Given the description of an element on the screen output the (x, y) to click on. 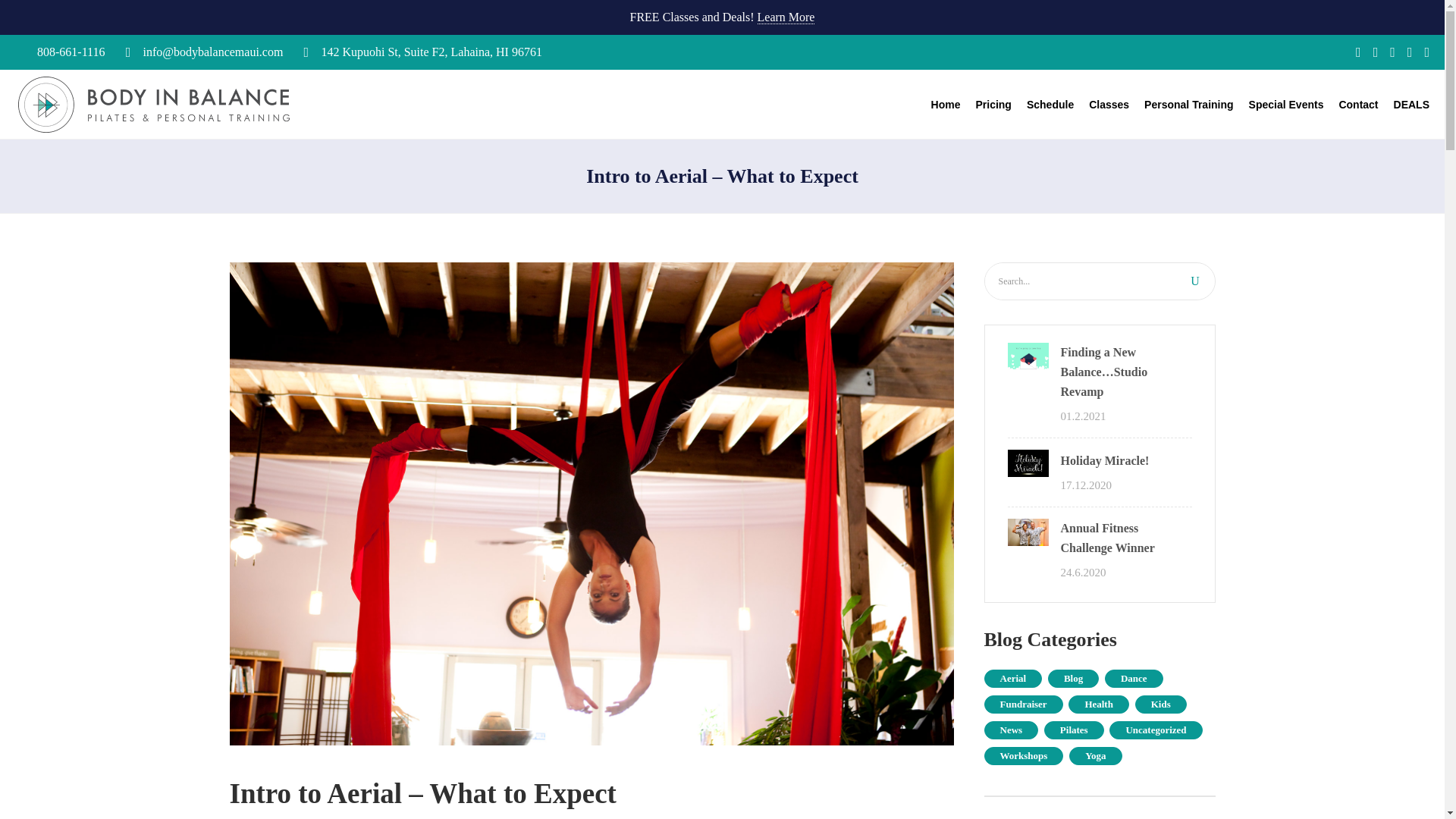
Special Events (1278, 103)
U (1194, 280)
808-661-1116 (70, 51)
Personal Training (1181, 103)
Schedule (1042, 103)
Learn More (785, 17)
